Given the description of an element on the screen output the (x, y) to click on. 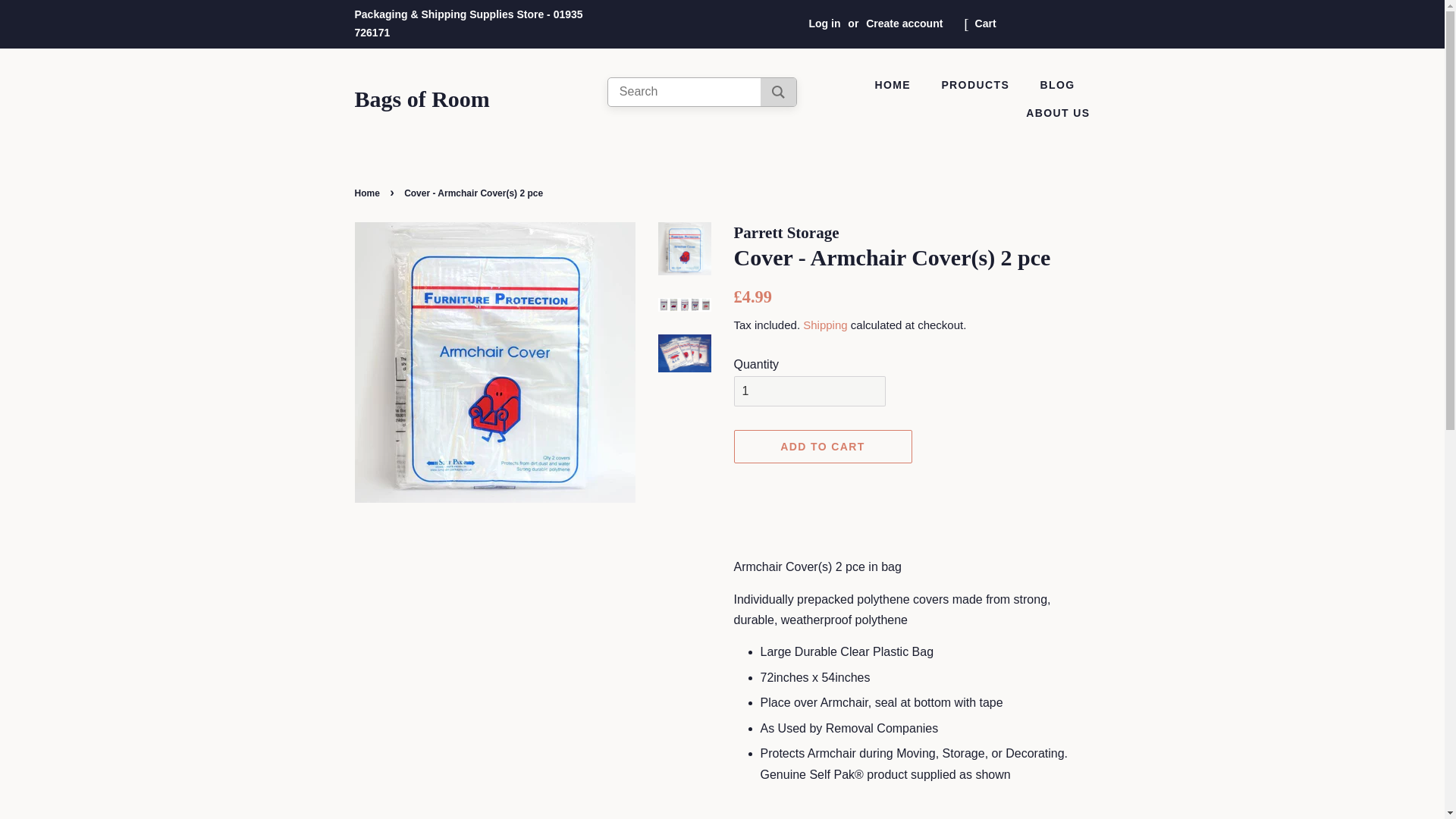
Shipping (825, 324)
Back to the frontpage (369, 193)
HOME (900, 85)
BLOG (1058, 85)
PRODUCTS (977, 85)
Home (369, 193)
Log in (824, 23)
Bags of Room (422, 99)
ABOUT US (1051, 113)
1 (809, 391)
